Given the description of an element on the screen output the (x, y) to click on. 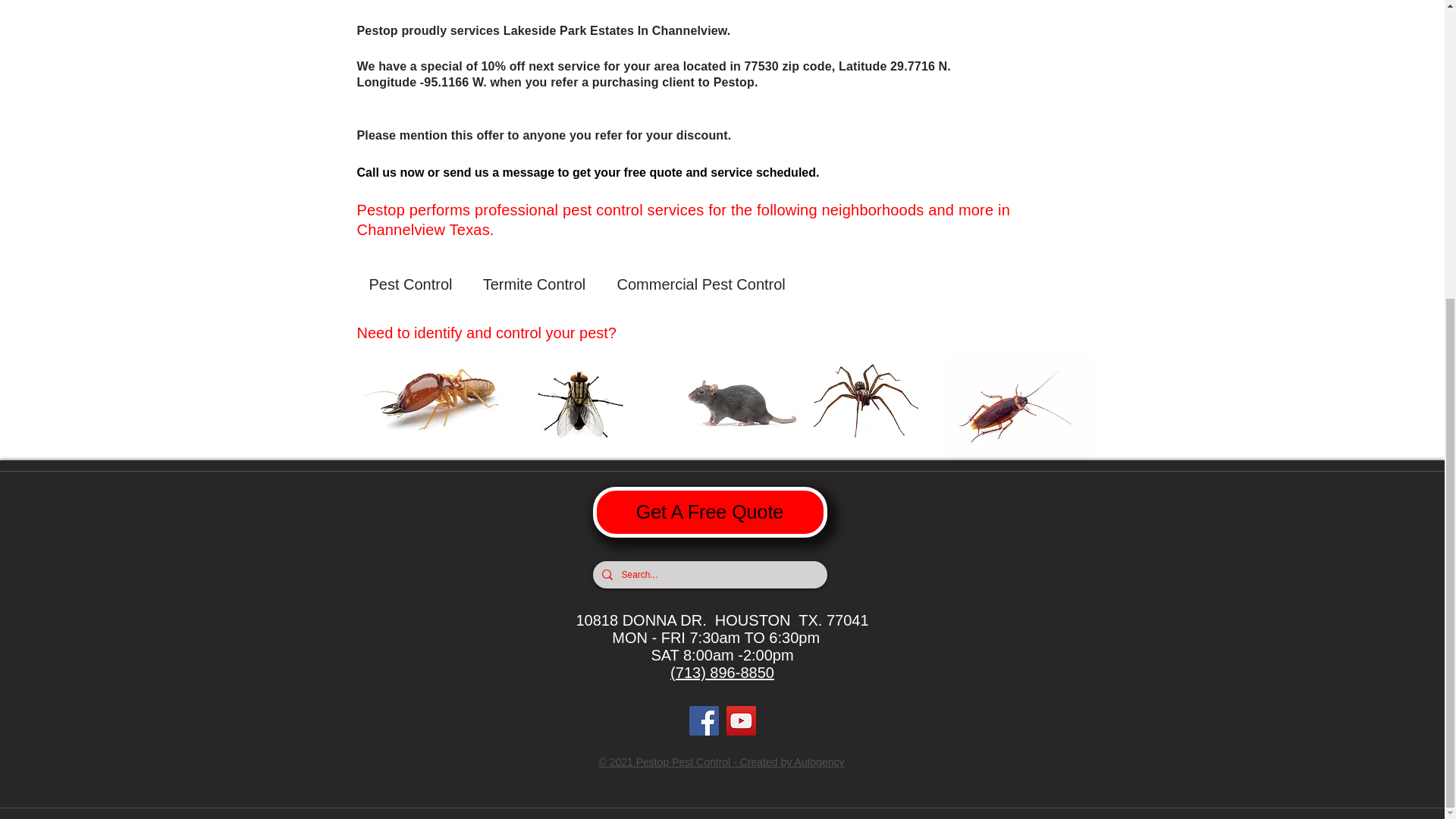
Pest Control (410, 284)
Termite Control (534, 284)
Get A Free Quote (709, 511)
Need to identify and control your pest? (494, 332)
Commercial Pest Control (701, 284)
